Given the description of an element on the screen output the (x, y) to click on. 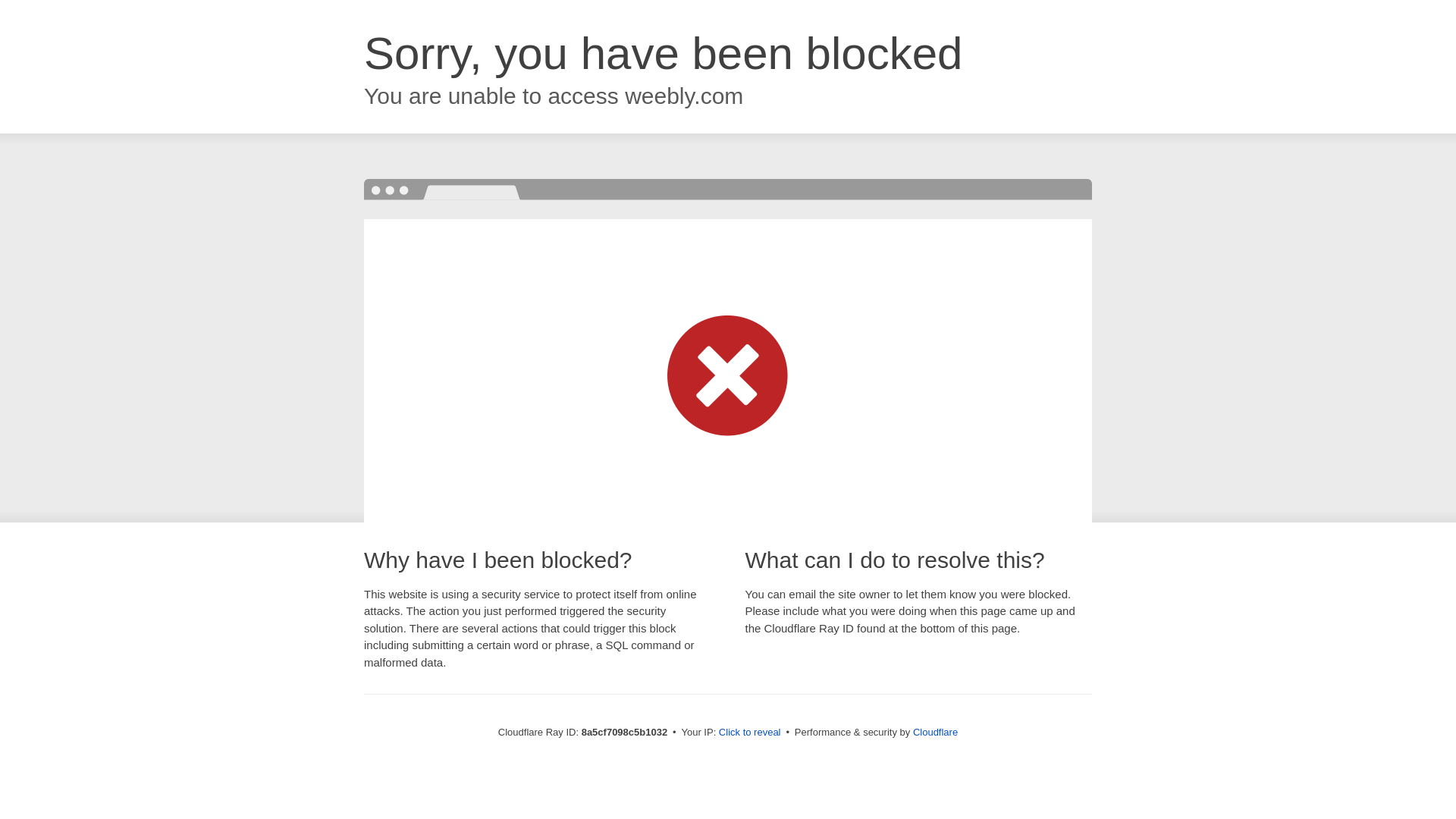
Click to reveal (749, 732)
Cloudflare (935, 731)
